Given the description of an element on the screen output the (x, y) to click on. 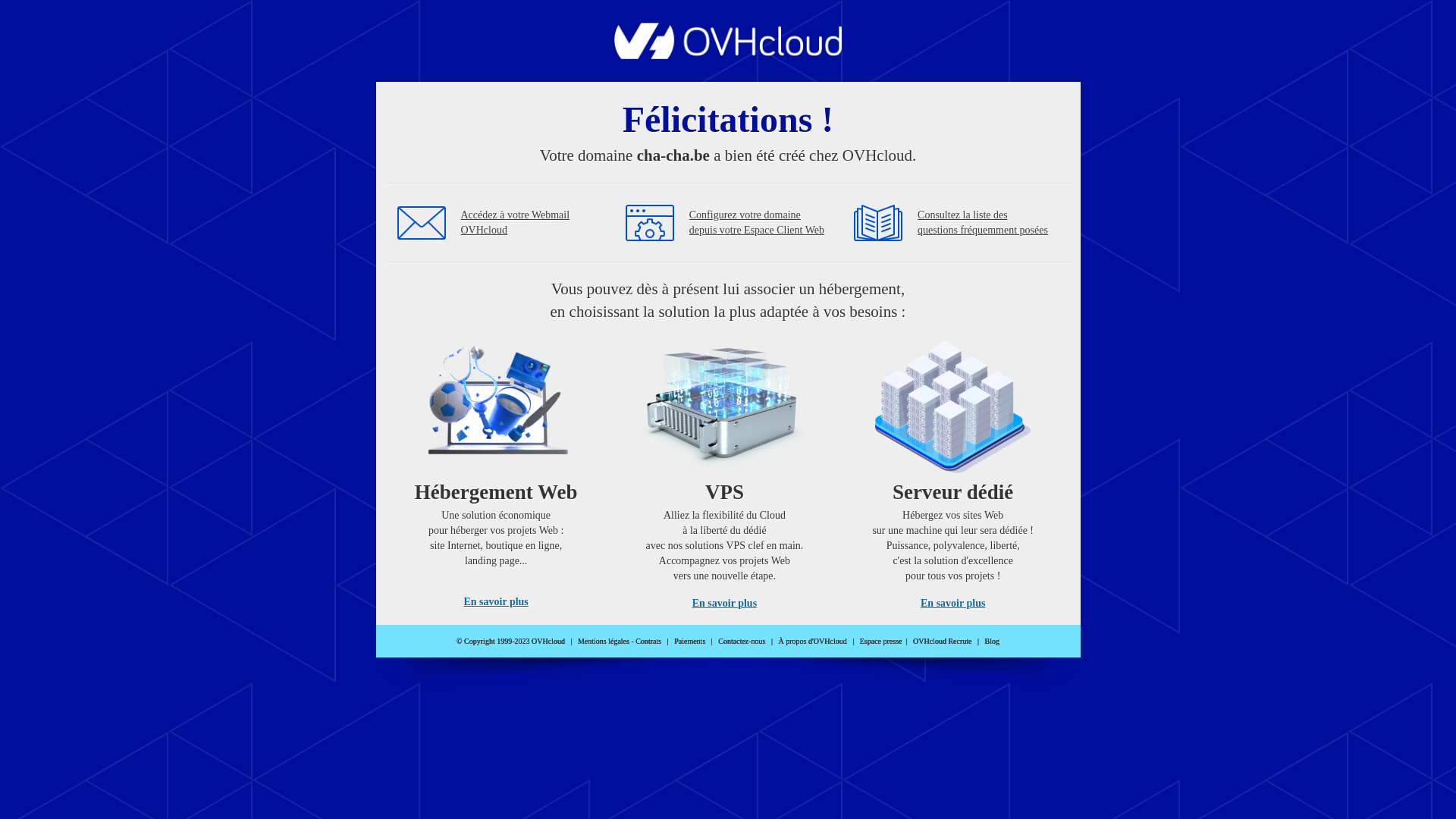
OVHcloud Recrute Element type: text (942, 641)
En savoir plus Element type: text (952, 602)
VPS Element type: hover (724, 469)
Contactez-nous Element type: text (741, 641)
OVHcloud Element type: hover (727, 54)
En savoir plus Element type: text (495, 601)
En savoir plus Element type: text (724, 602)
Espace presse Element type: text (880, 641)
Configurez votre domaine
depuis votre Espace Client Web Element type: text (756, 222)
Blog Element type: text (992, 641)
Paiements Element type: text (689, 641)
